Given the description of an element on the screen output the (x, y) to click on. 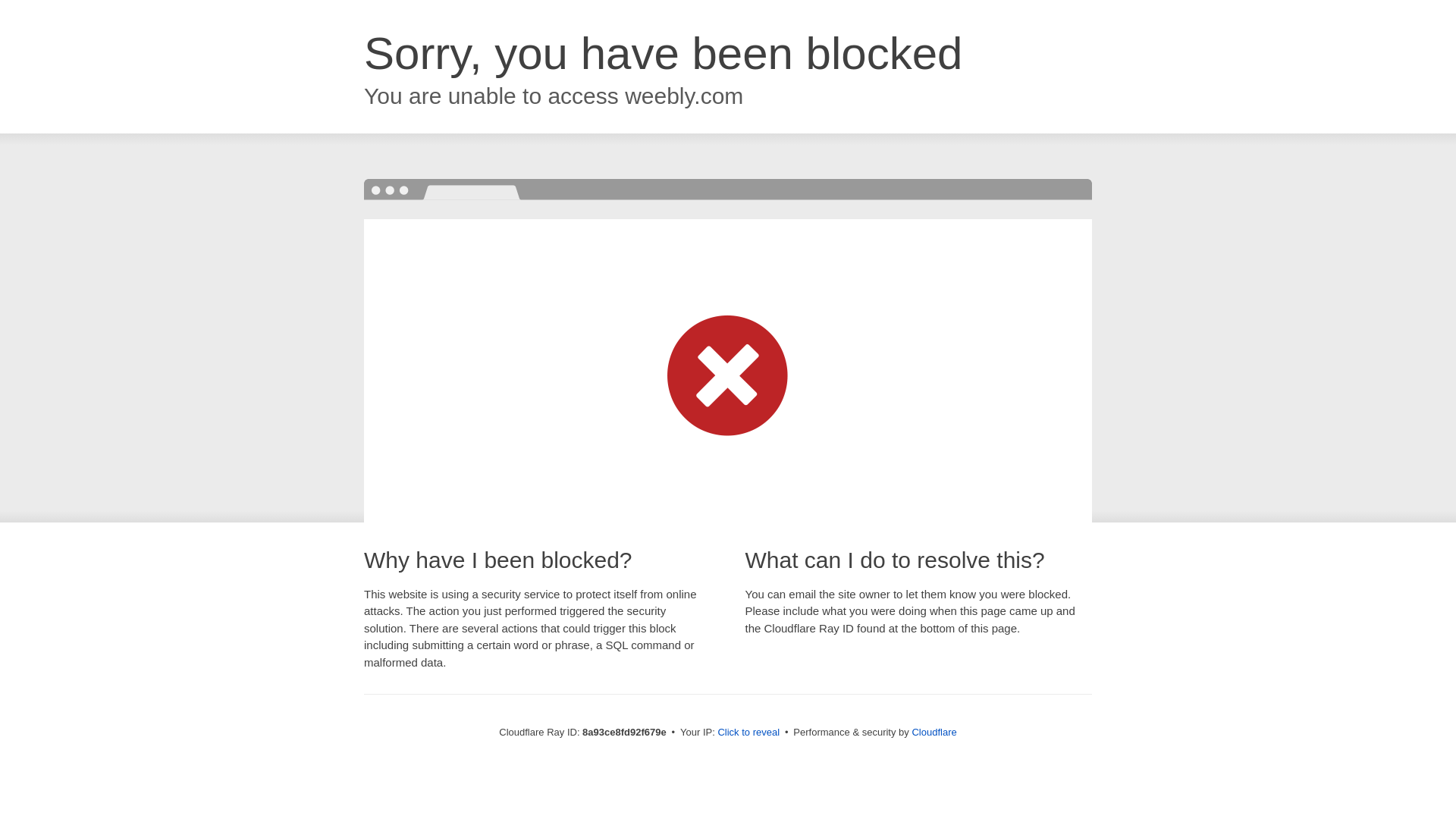
Cloudflare (933, 731)
Click to reveal (747, 732)
